Given the description of an element on the screen output the (x, y) to click on. 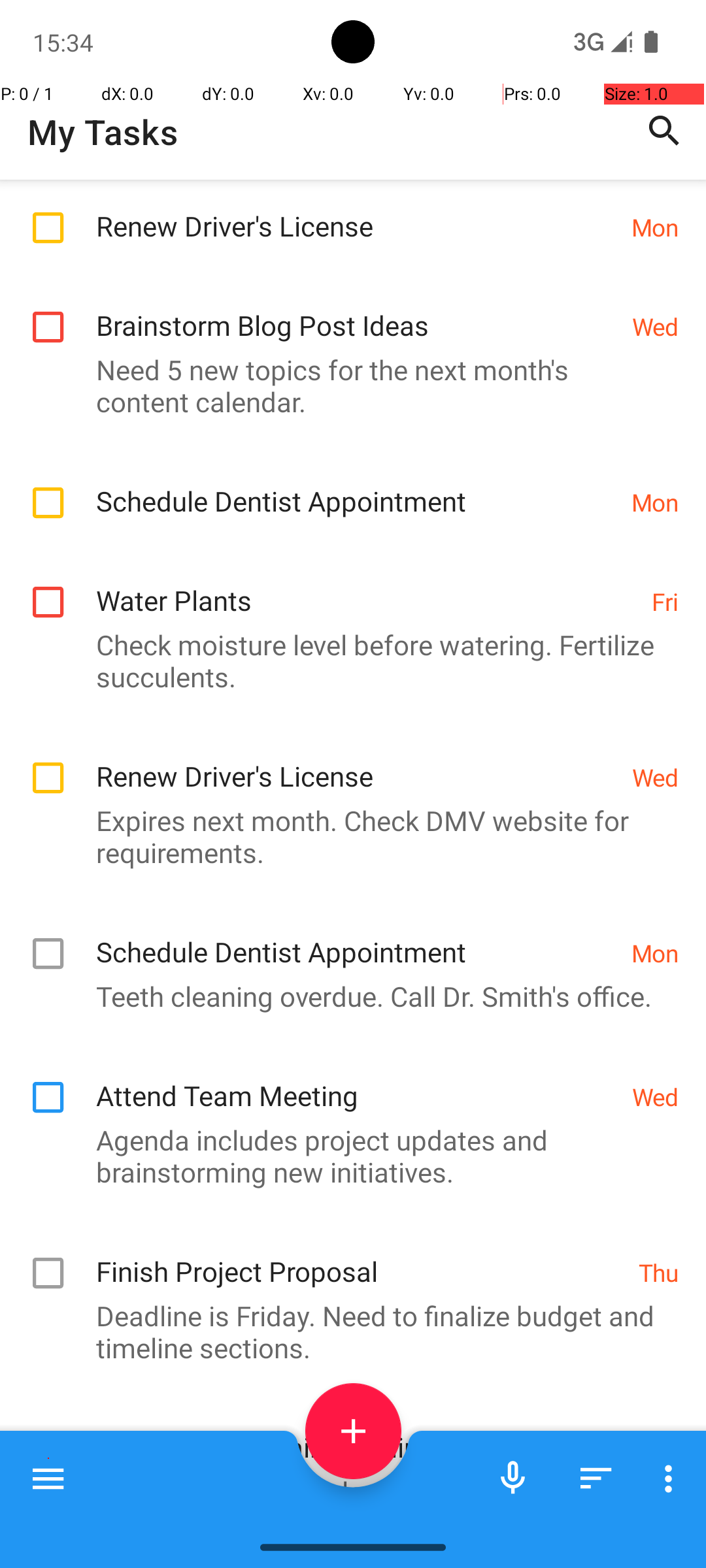
My Tasks Element type: android.widget.TextView (102, 131)
Sort Element type: android.widget.Button (595, 1478)
Renew Driver's License Element type: android.widget.TextView (356, 211)
Mon Element type: android.widget.TextView (654, 226)
Brainstorm Blog Post Ideas Element type: android.widget.TextView (357, 310)
Need 5 new topics for the next month's content calendar. Element type: android.widget.TextView (346, 385)
Wed Element type: android.widget.TextView (655, 325)
Schedule Dentist Appointment Element type: android.widget.TextView (356, 486)
Water Plants Element type: android.widget.TextView (367, 586)
Check moisture level before watering. Fertilize succulents. Element type: android.widget.TextView (346, 660)
Fri Element type: android.widget.TextView (665, 600)
Expires next month. Check DMV website for requirements. Element type: android.widget.TextView (346, 835)
Teeth cleaning overdue. Call Dr. Smith's office. Element type: android.widget.TextView (346, 995)
Attend Team Meeting Element type: android.widget.TextView (357, 1081)
Agenda includes project updates and brainstorming new initiatives. Element type: android.widget.TextView (346, 1155)
Finish Project Proposal Element type: android.widget.TextView (360, 1257)
Deadline is Friday. Need to finalize budget and timeline sections. Element type: android.widget.TextView (346, 1331)
Thu Element type: android.widget.TextView (658, 1271)
Participate in brainstorming session Element type: android.widget.TextView (350, 1432)
Schedule time on calendar. Element type: android.widget.TextView (346, 1490)
Tmrw Element type: android.widget.TextView (648, 1447)
